Given the description of an element on the screen output the (x, y) to click on. 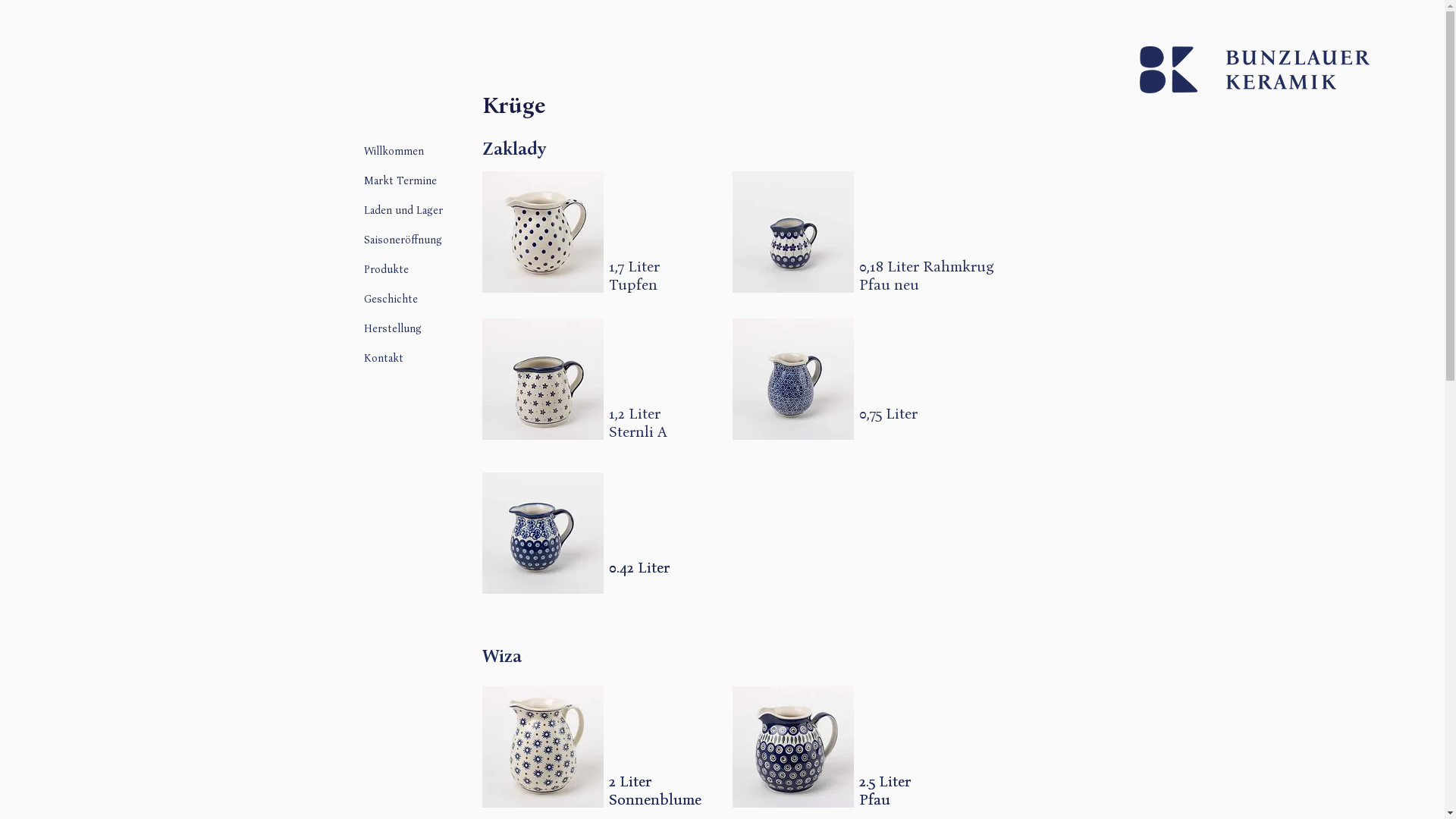
Markt Termine Element type: text (443, 179)
Herstellung Element type: text (443, 327)
Laden und Lager Element type: text (443, 209)
Kontakt Element type: text (443, 357)
Geschichte Element type: text (443, 298)
Produkte Element type: text (443, 268)
Willkommen Element type: text (443, 150)
